Given the description of an element on the screen output the (x, y) to click on. 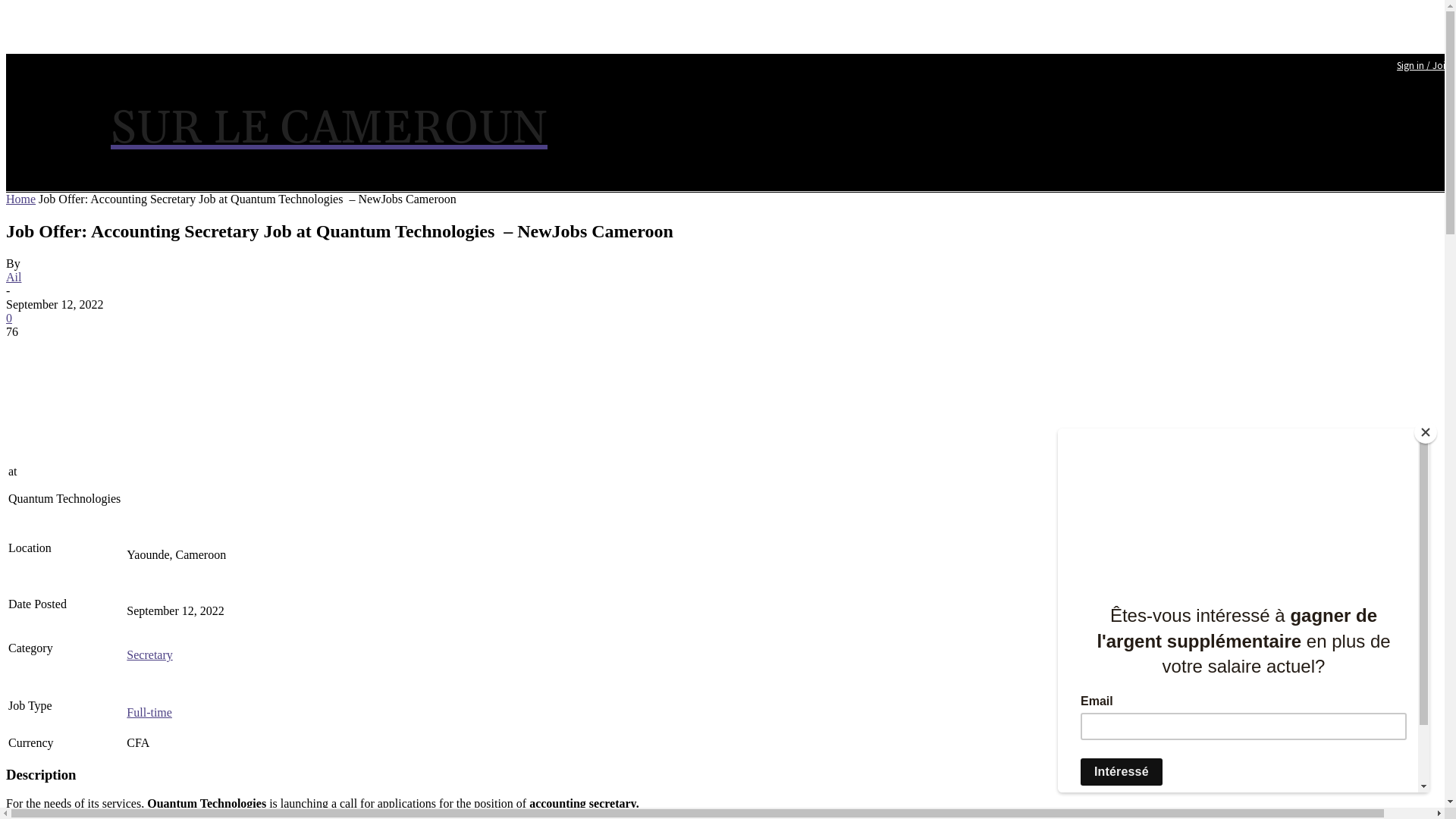
Twitter Element type: hover (600, 116)
Home Element type: text (20, 198)
SUR LE CAMEROUN Element type: text (328, 129)
Sign in / Join Element type: text (1423, 65)
Secretary Element type: text (149, 661)
Youtube Element type: hover (628, 116)
0 Element type: text (9, 317)
Ail Element type: text (13, 276)
Facebook Element type: hover (572, 116)
Full-time Element type: text (149, 719)
